Given the description of an element on the screen output the (x, y) to click on. 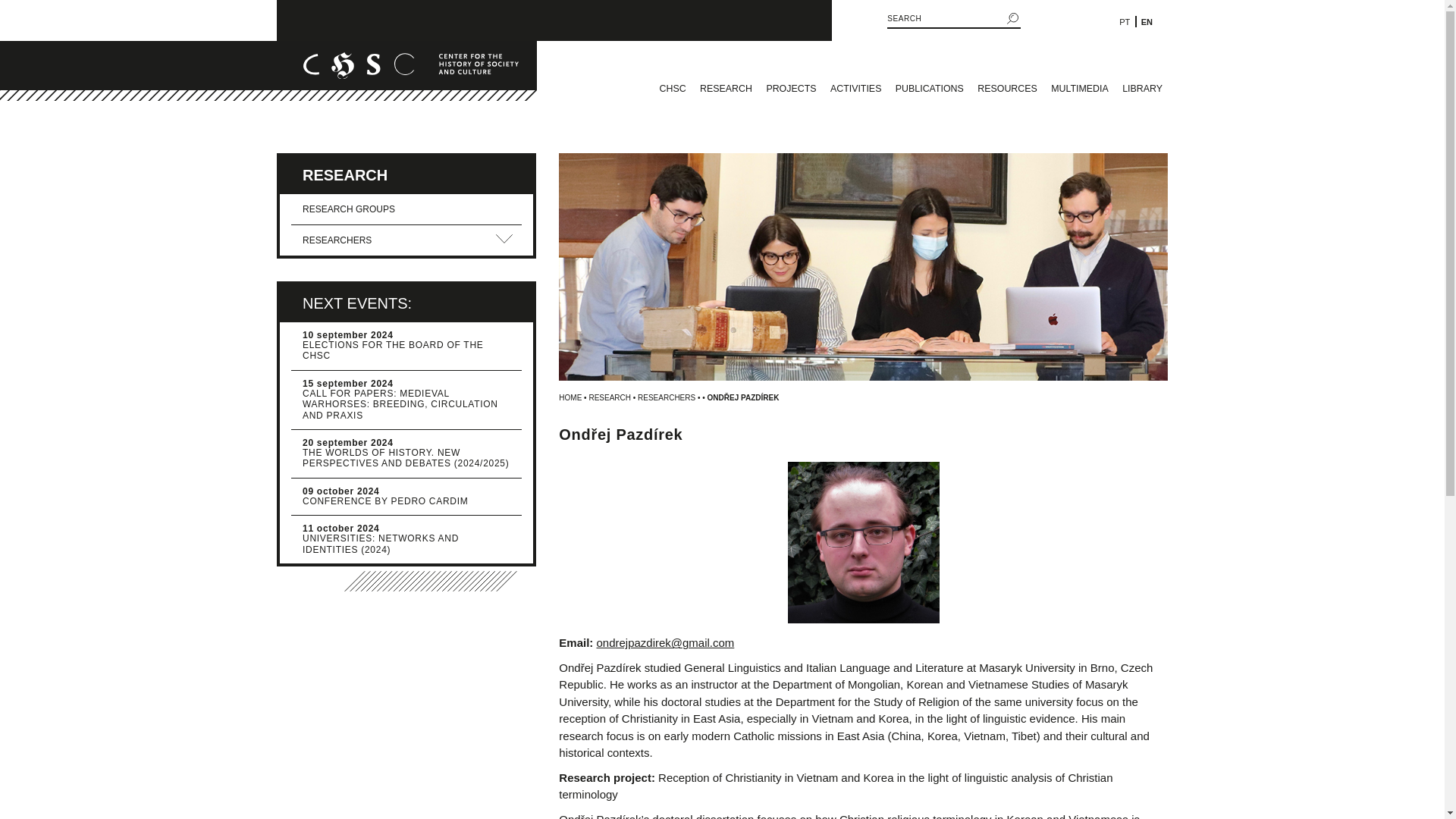
PUBLICATIONS (929, 88)
MULTIMEDIA (1079, 88)
LIBRARY (1142, 88)
Ir para Research. (666, 397)
CHSC (671, 88)
Ir para CHSC. (569, 397)
RESOURCES (1007, 88)
PT (1124, 20)
Ir para Research. (609, 397)
ACTIVITIES (856, 88)
